Given the description of an element on the screen output the (x, y) to click on. 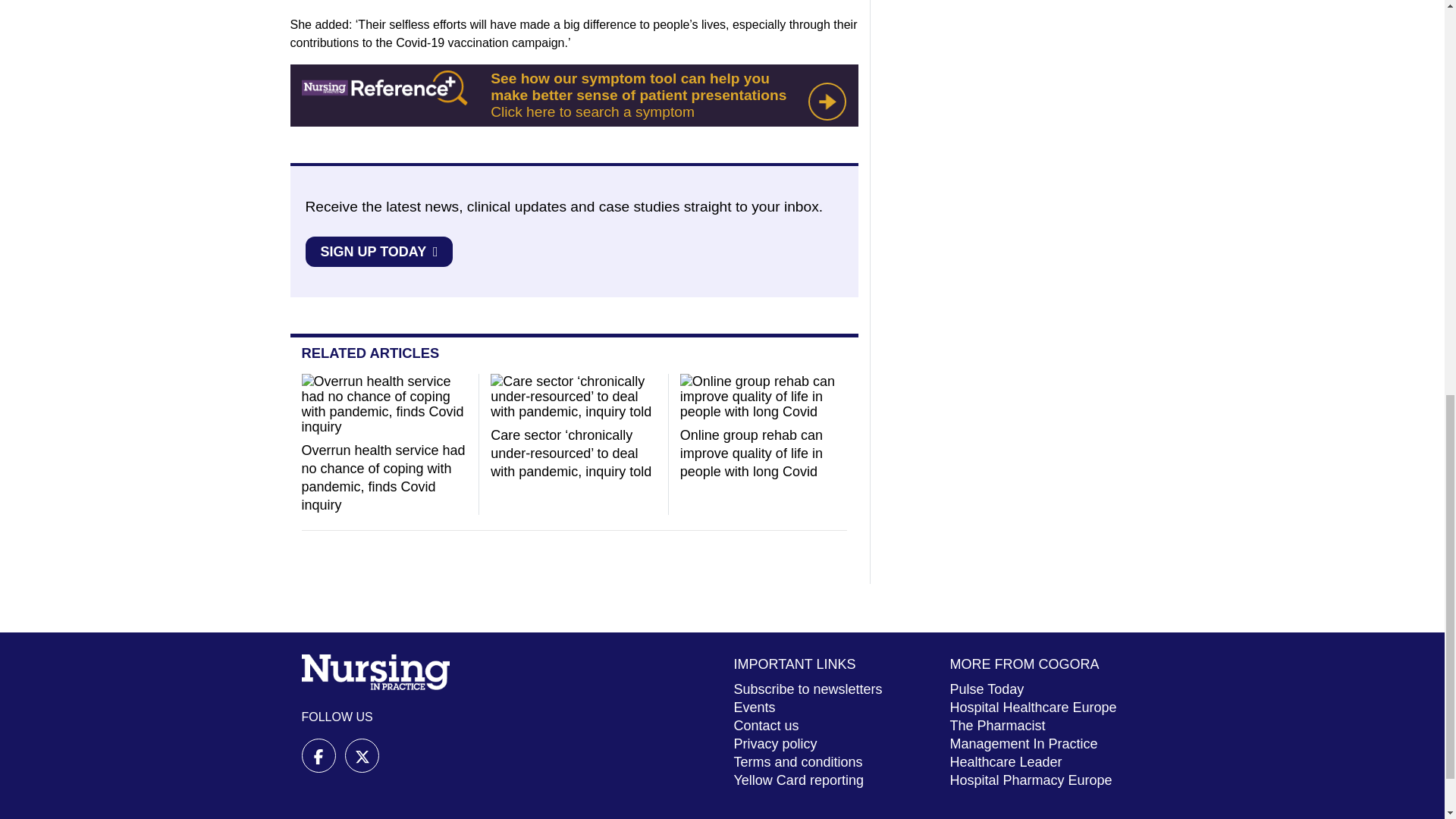
Subscribe to newsletters (807, 688)
Terms and conditions (798, 761)
Hospital Pharmacy Europe (1030, 780)
Healthcare Leader (1005, 761)
Hospital Healthcare Europe (1032, 707)
Yellow Card reporting (798, 780)
Contact us (766, 725)
Management In Practice (1023, 743)
Privacy policy (774, 743)
Events (754, 707)
Pulse Today (986, 688)
The Pharmacist (997, 725)
